Given the description of an element on the screen output the (x, y) to click on. 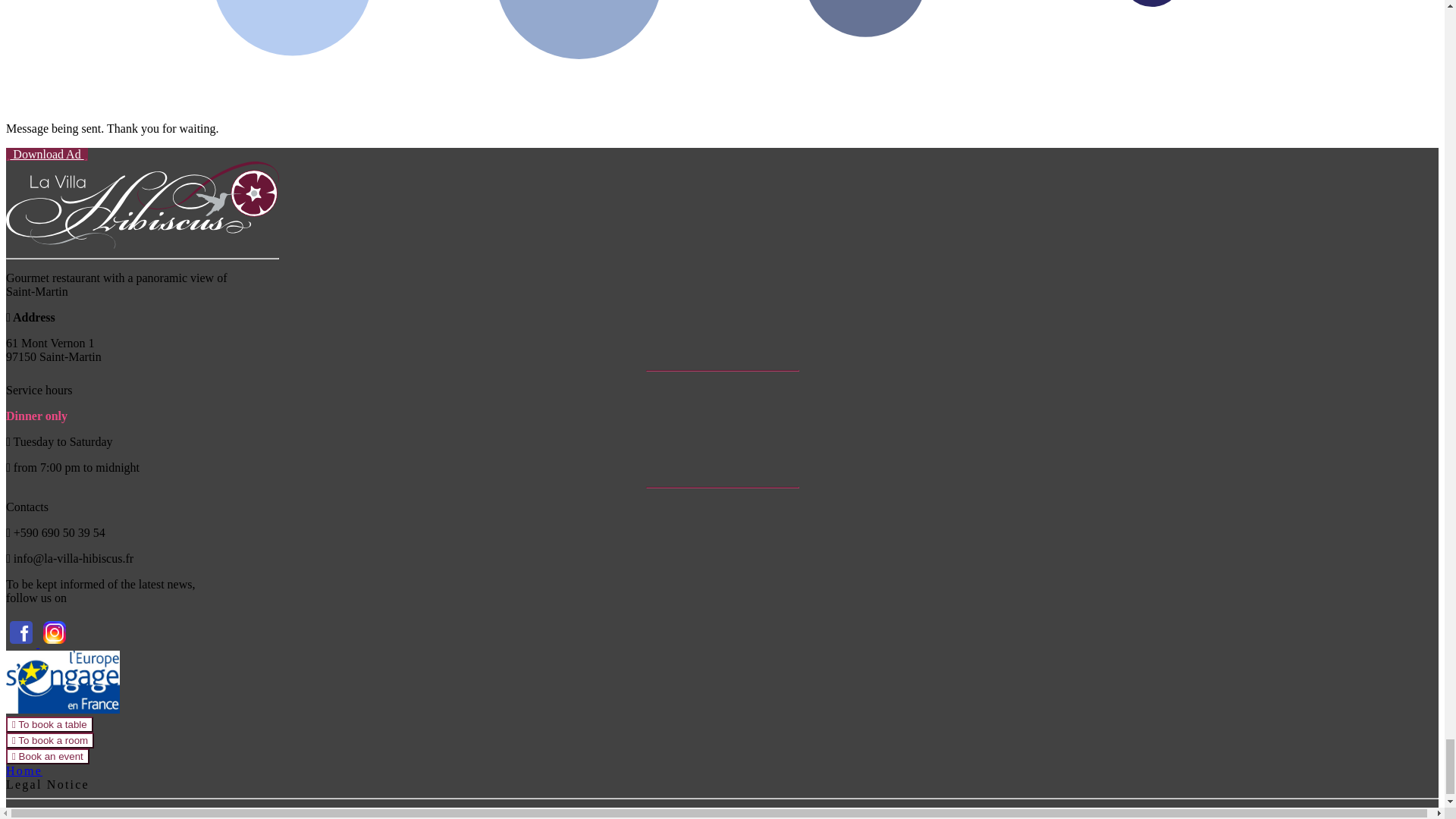
Instagram (54, 643)
Download Ad (46, 154)
Facebook (22, 643)
